Given the description of an element on the screen output the (x, y) to click on. 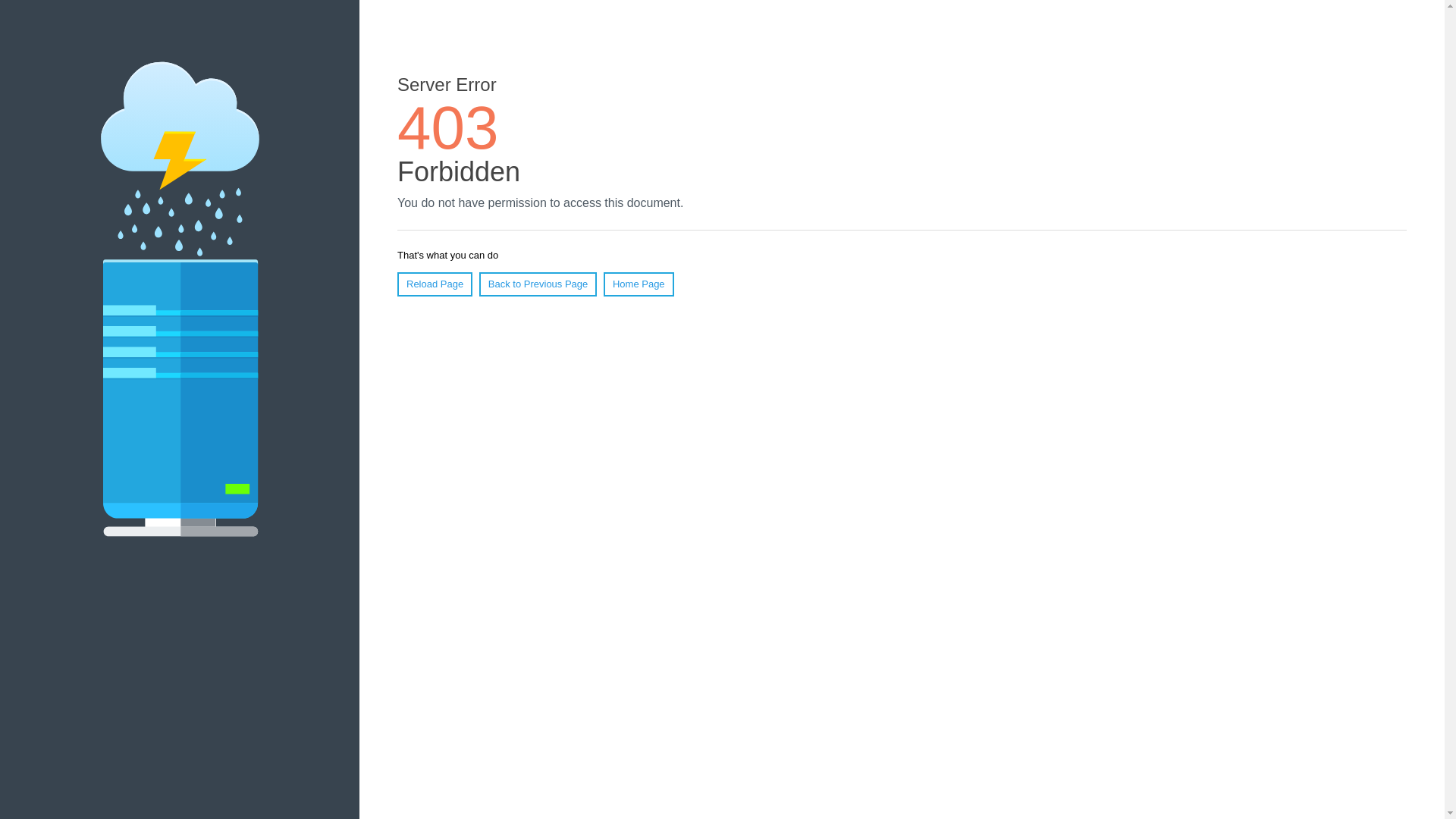
Reload Page (434, 283)
Home Page (639, 283)
Back to Previous Page (537, 283)
